Given the description of an element on the screen output the (x, y) to click on. 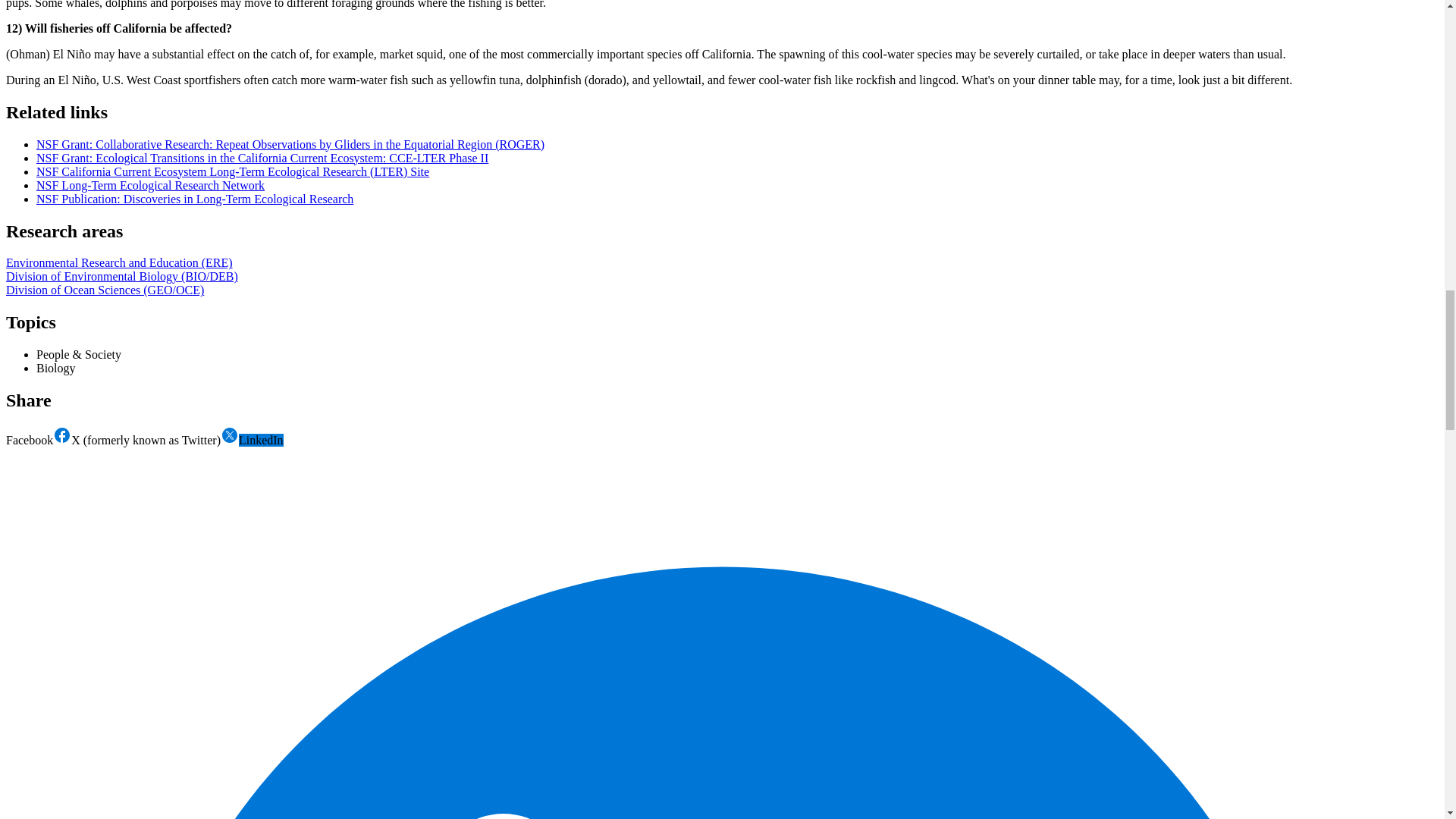
Facebook (38, 440)
NSF Long-Term Ecological Research Network (150, 185)
